Given the description of an element on the screen output the (x, y) to click on. 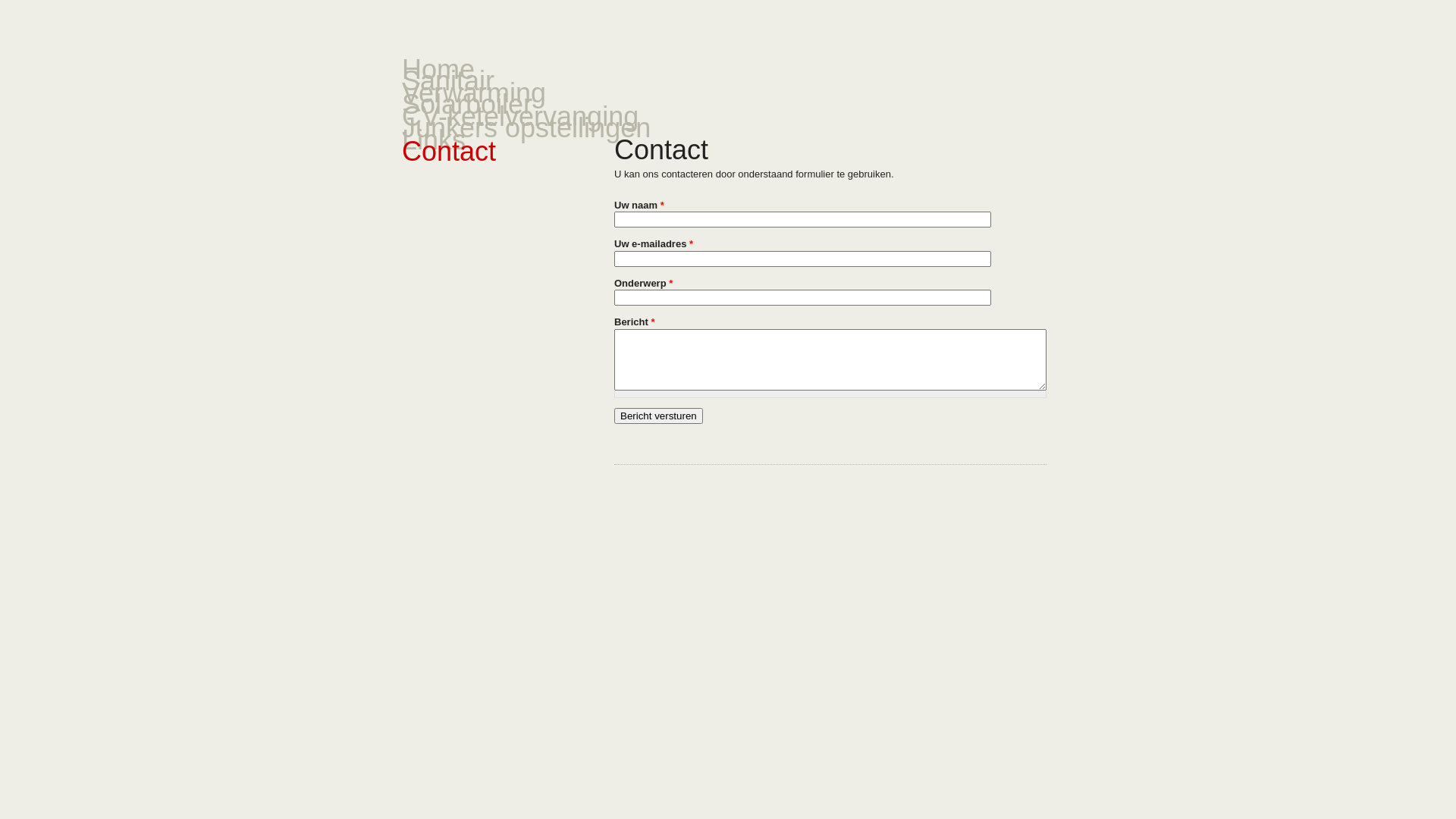
Sanitair Element type: text (447, 80)
Verwarming Element type: text (473, 92)
Links Element type: text (433, 139)
Solarboiler Element type: text (466, 103)
Home Element type: text (437, 68)
Junkers opstellingen Element type: text (525, 127)
Overslaan en naar de algemene inhoud gaan Element type: text (98, 0)
Bericht versturen Element type: text (658, 415)
Contact Element type: text (448, 150)
CV-ketelvervanging Element type: text (519, 115)
